Given the description of an element on the screen output the (x, y) to click on. 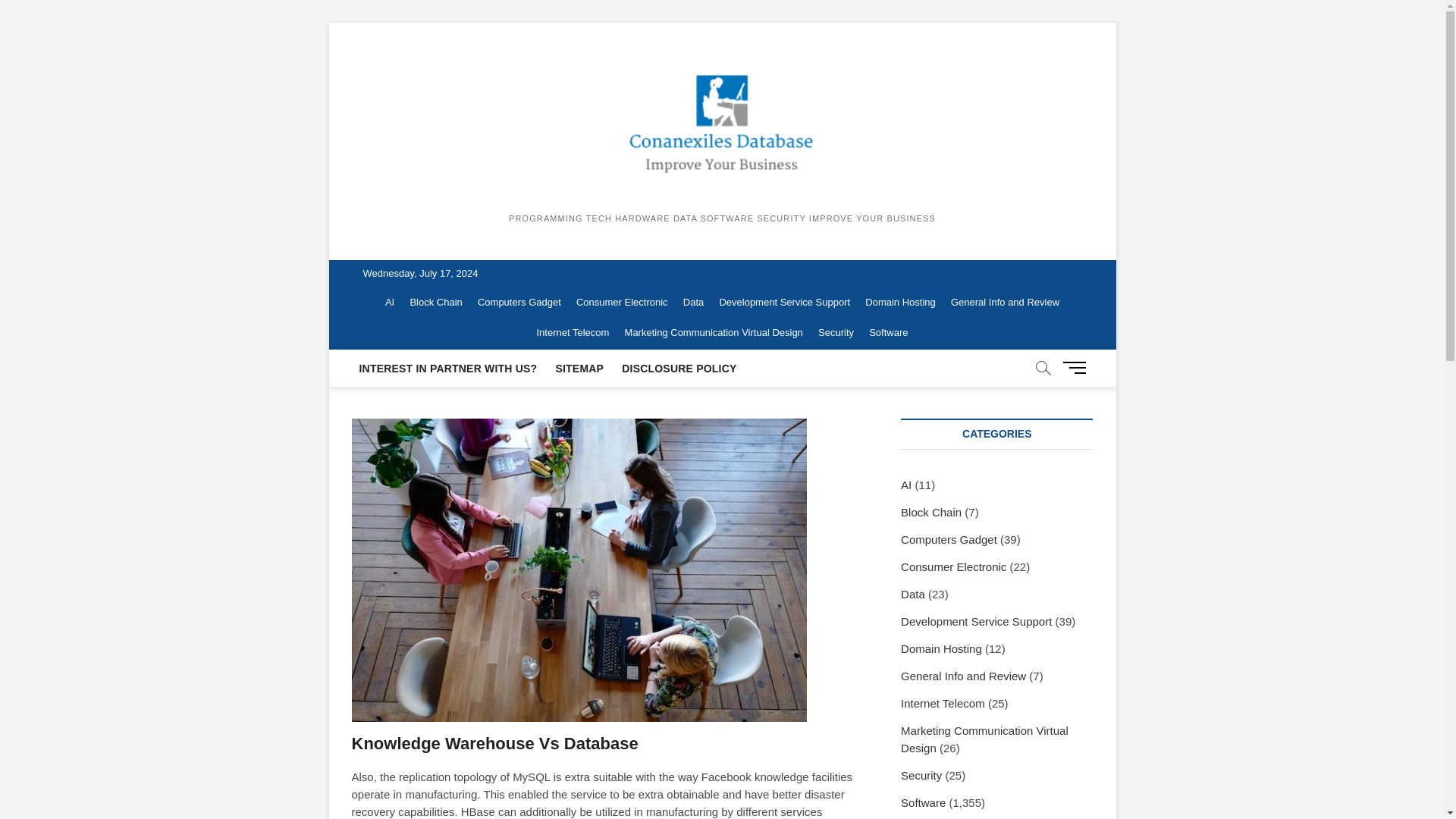
SITEMAP (579, 368)
Marketing Communication Virtual Design (713, 332)
Computers Gadget (519, 302)
Development Service Support (784, 302)
DISCLOSURE POLICY (679, 368)
Domain Hosting (900, 302)
Software (888, 332)
Internet Telecom (573, 332)
Security (836, 332)
Block Chain (435, 302)
Menu Button (1077, 367)
INTEREST IN PARTNER WITH US? (448, 368)
Consumer Electronic (622, 302)
